Given the description of an element on the screen output the (x, y) to click on. 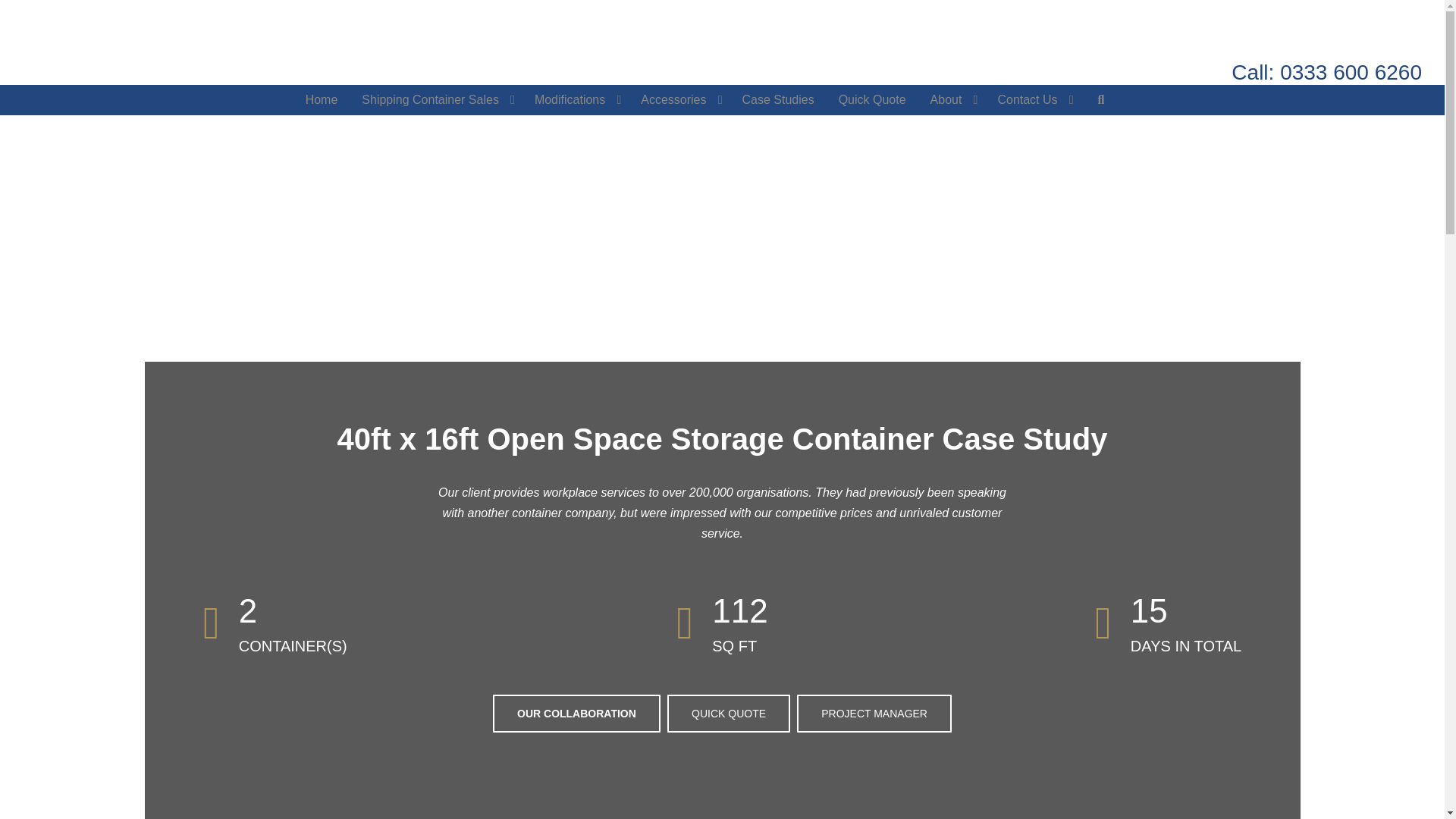
Home (322, 100)
Go! (24, 16)
Shipping Container Sales (435, 100)
Modifications (575, 100)
Call: 0333 600 6260 (1326, 72)
